Given the description of an element on the screen output the (x, y) to click on. 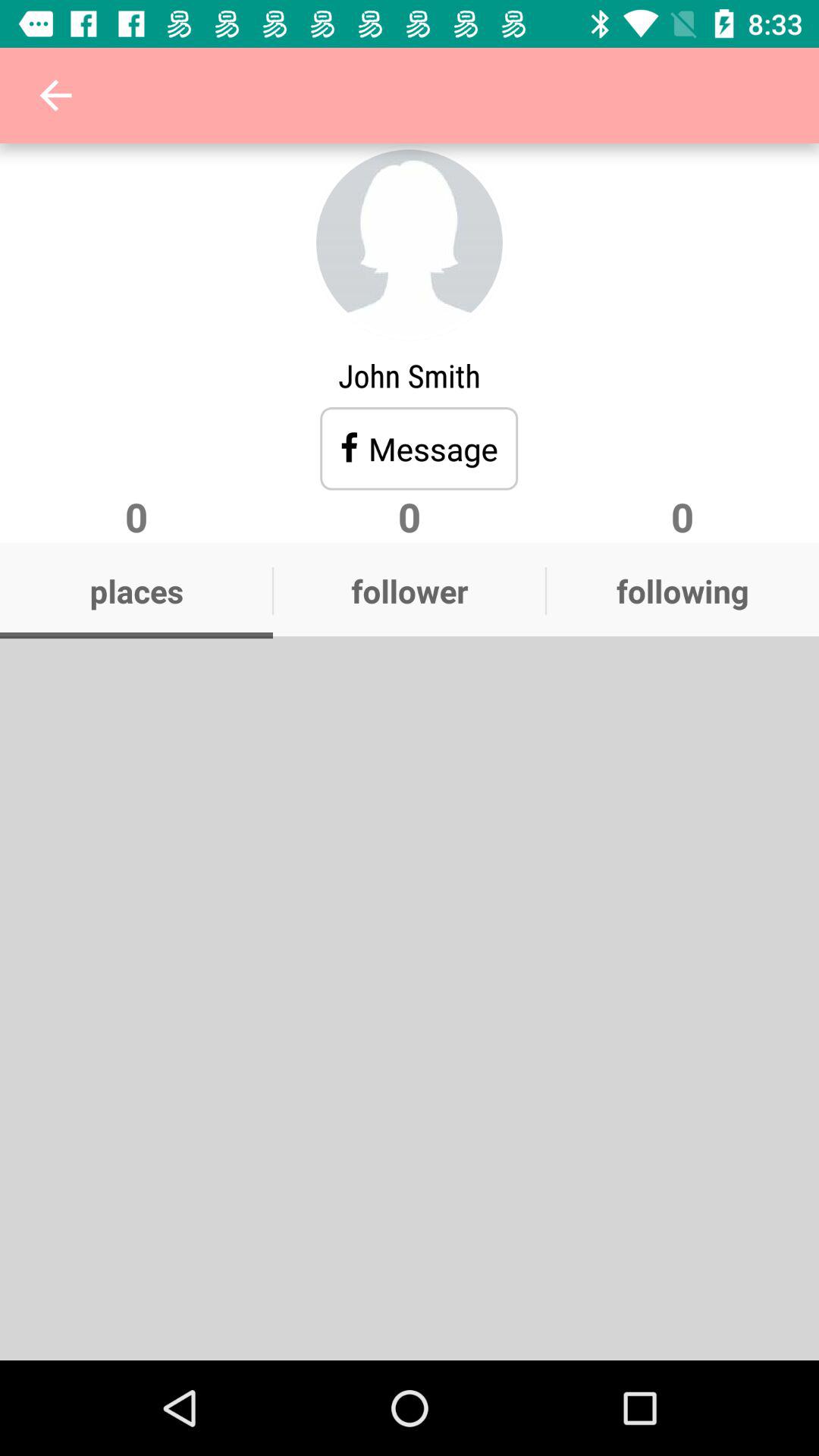
choose follower (409, 590)
